Given the description of an element on the screen output the (x, y) to click on. 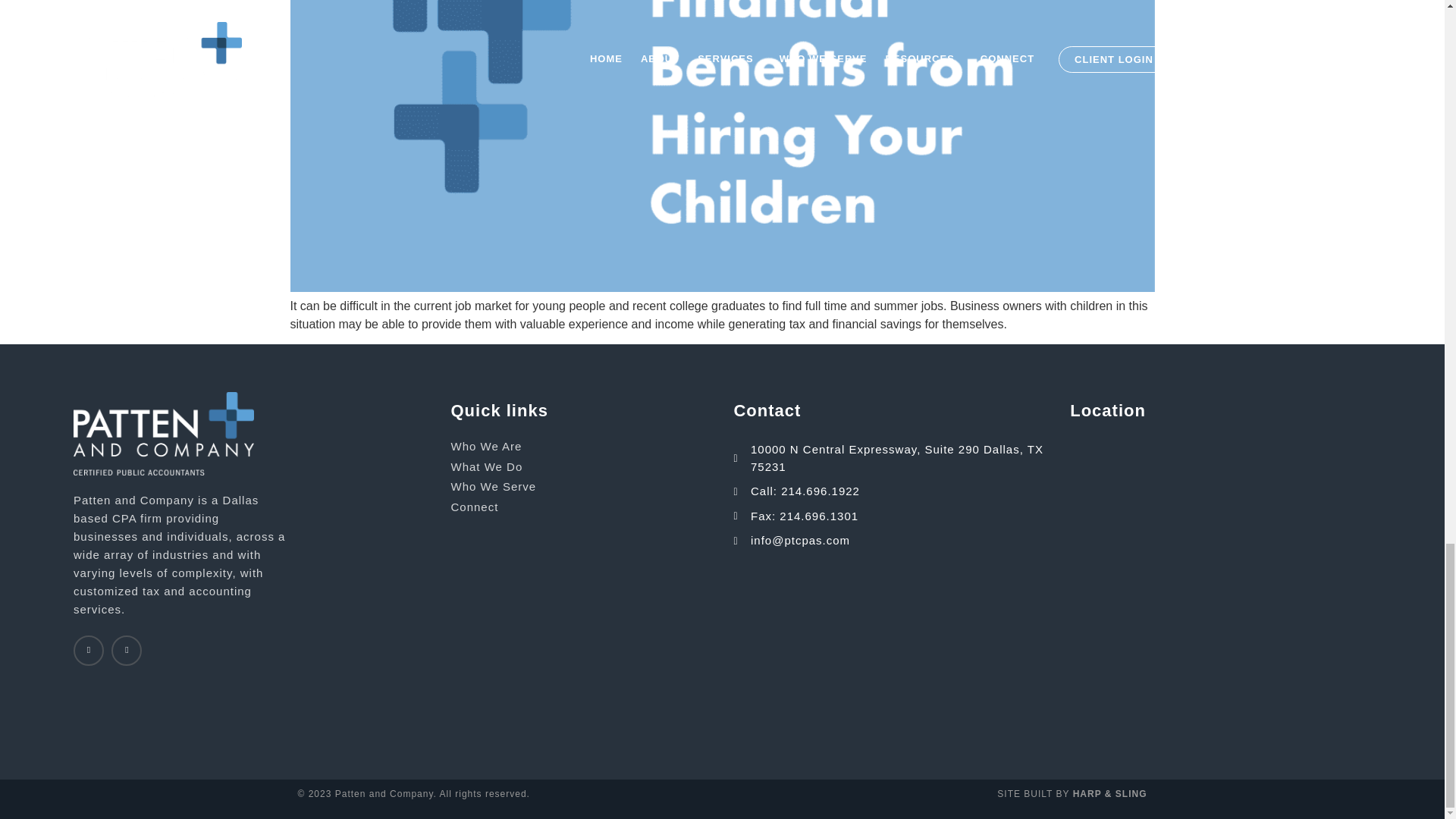
10000 N Central Expressway, Suite 290 Dallas, TX 75231 (1220, 515)
